Given the description of an element on the screen output the (x, y) to click on. 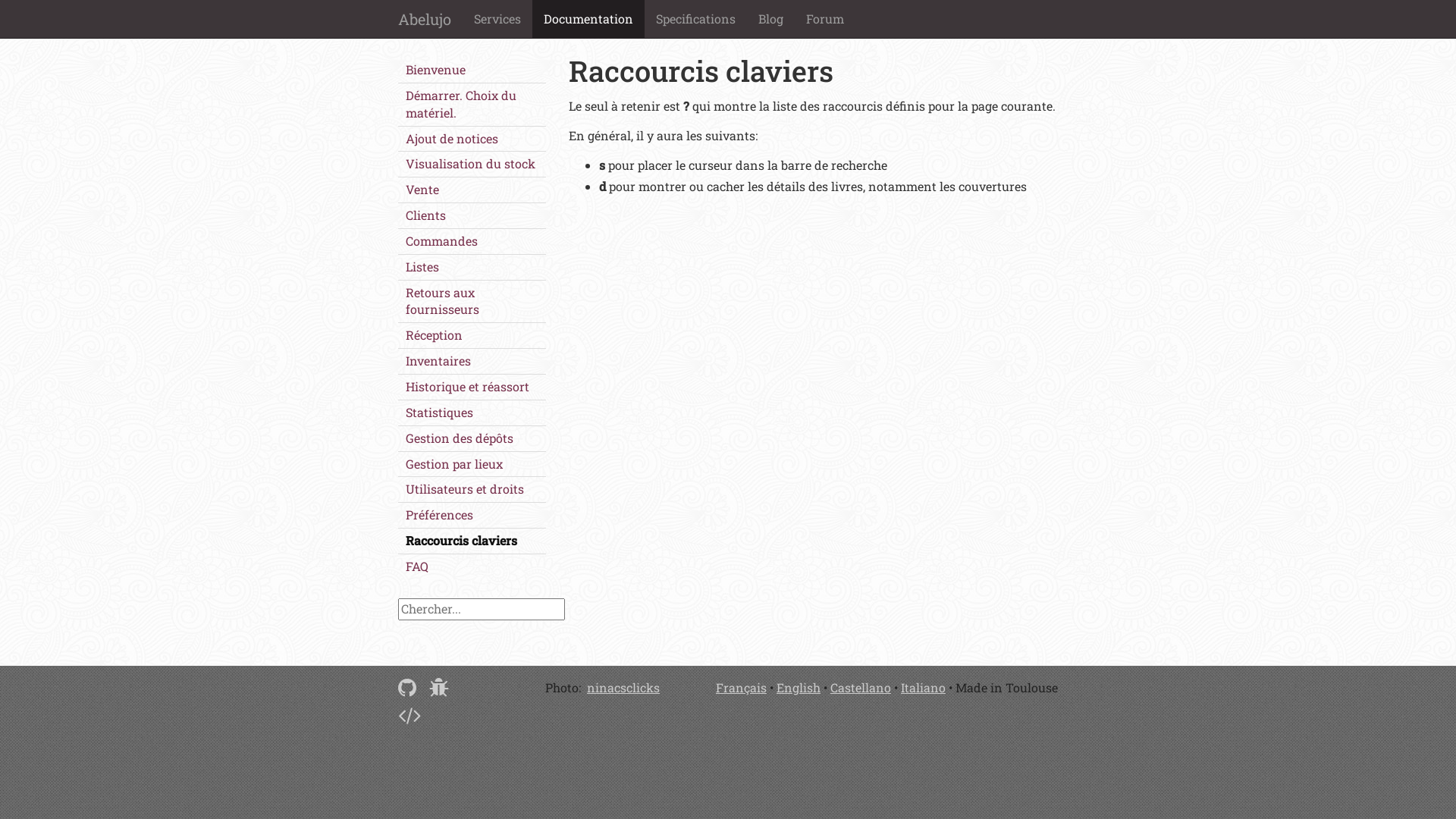
Documentation Element type: text (588, 18)
Vente Element type: text (472, 189)
Italiano Element type: text (922, 687)
Utilisateurs et droits Element type: text (472, 489)
Bienvenue Element type: text (472, 69)
Inventaires Element type: text (472, 360)
Specifications Element type: text (695, 18)
Visualisation du stock Element type: text (472, 163)
Abelujo on Gitlab Element type: hover (407, 687)
Statistiques Element type: text (472, 412)
Services Element type: text (497, 18)
Commandes Element type: text (472, 241)
Abelujo Element type: text (424, 18)
Listes Element type: text (472, 266)
English Element type: text (798, 687)
Clients Element type: text (472, 215)
Raccourcis claviers Element type: text (472, 540)
Forum Element type: text (824, 18)
View source for this page Element type: hover (409, 714)
ninacsclicks Element type: text (622, 687)
Gestion par lieux Element type: text (472, 463)
FAQ Element type: text (472, 566)
Castellano Element type: text (860, 687)
Blog Element type: text (770, 18)
Report Issues for Abelujo Element type: hover (438, 687)
Ajout de notices Element type: text (472, 138)
Retours aux fournisseurs Element type: text (472, 301)
